Given the description of an element on the screen output the (x, y) to click on. 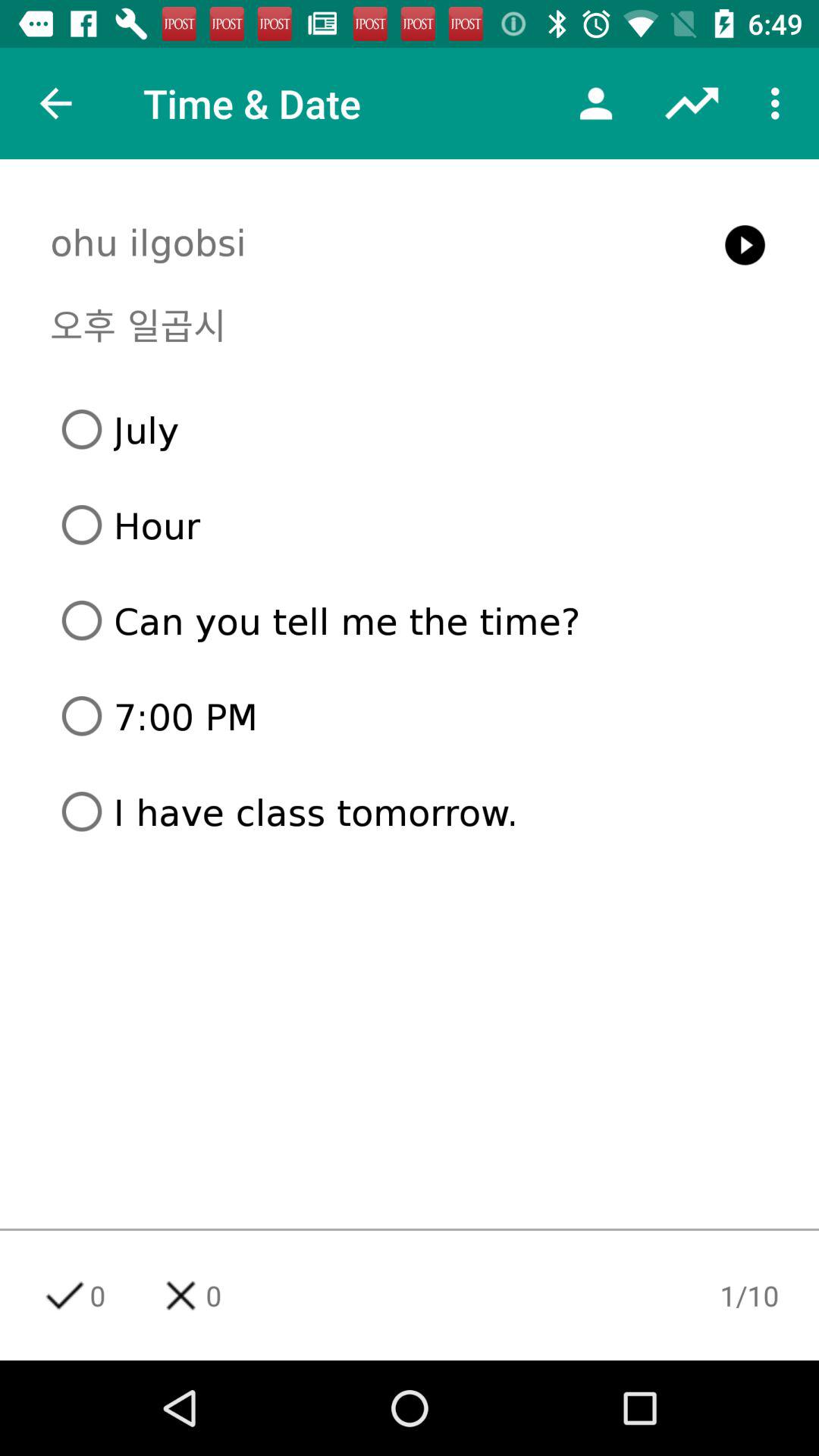
press the july (415, 429)
